Given the description of an element on the screen output the (x, y) to click on. 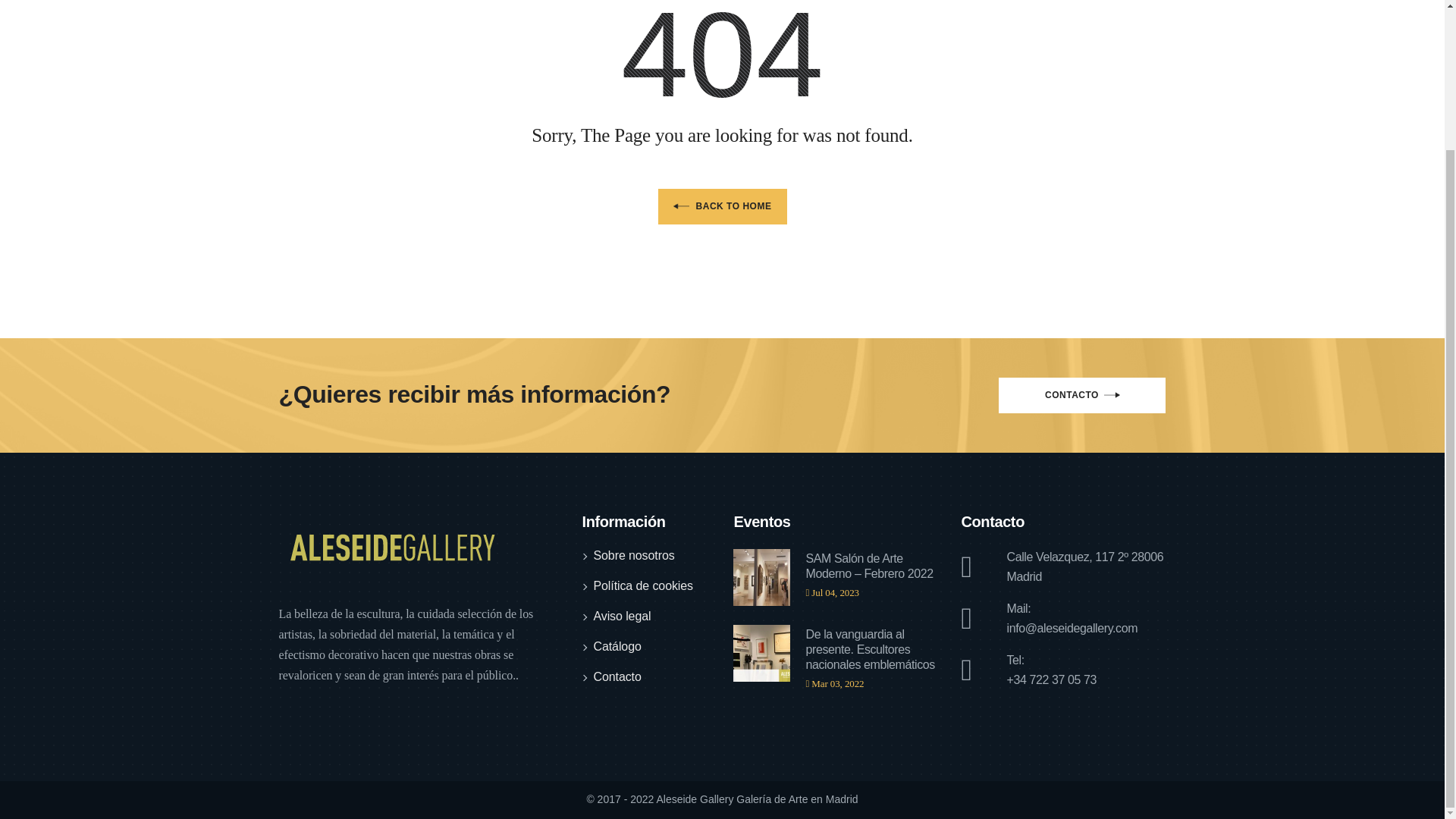
CONTACTO (1082, 395)
Aviso legal (621, 616)
BACK TO HOME (722, 206)
Sobre nosotros (633, 556)
Contacto (616, 677)
